Given the description of an element on the screen output the (x, y) to click on. 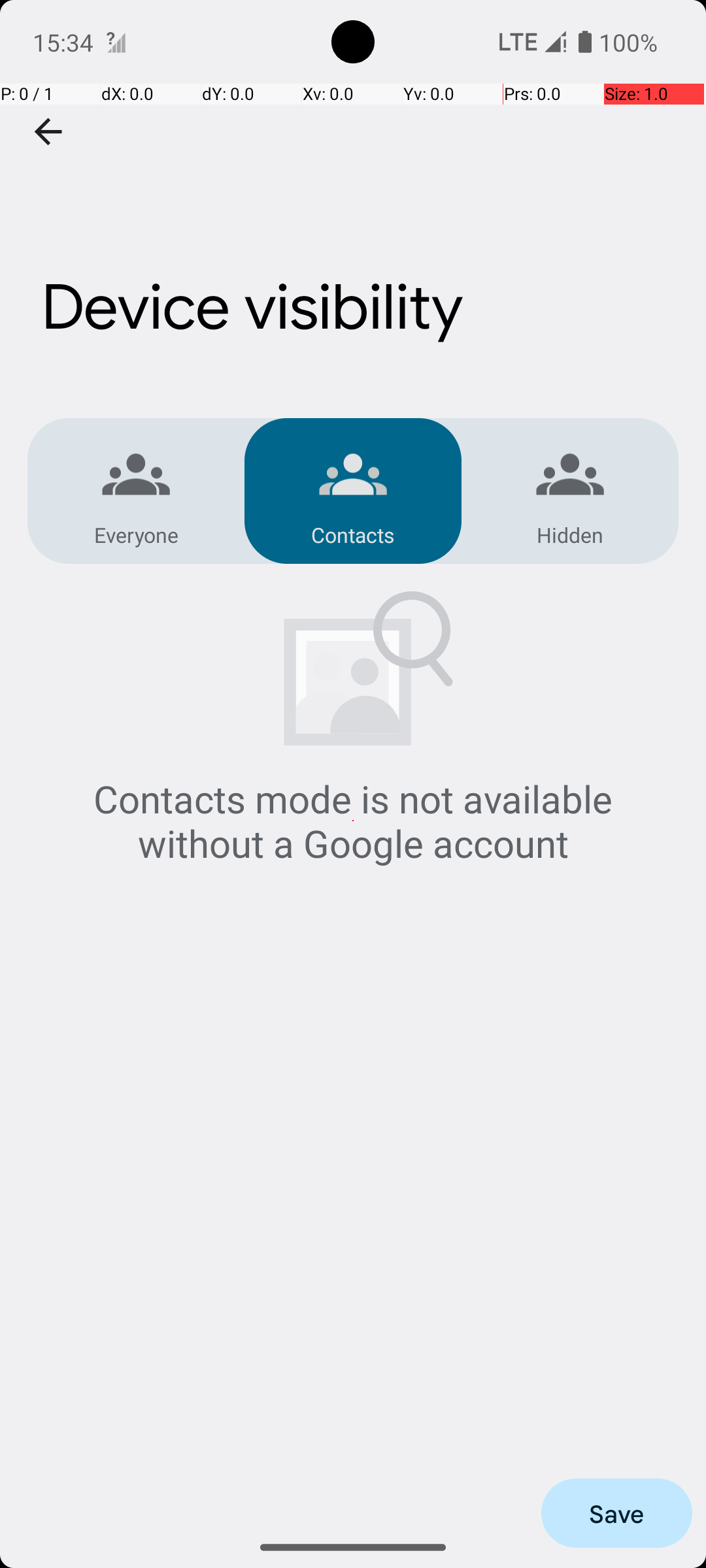
Contacts mode is not available without a Google account Element type: android.widget.TextView (352, 820)
Everyone Element type: android.widget.TextView (135, 534)
Hidden Element type: android.widget.TextView (569, 534)
